Given the description of an element on the screen output the (x, y) to click on. 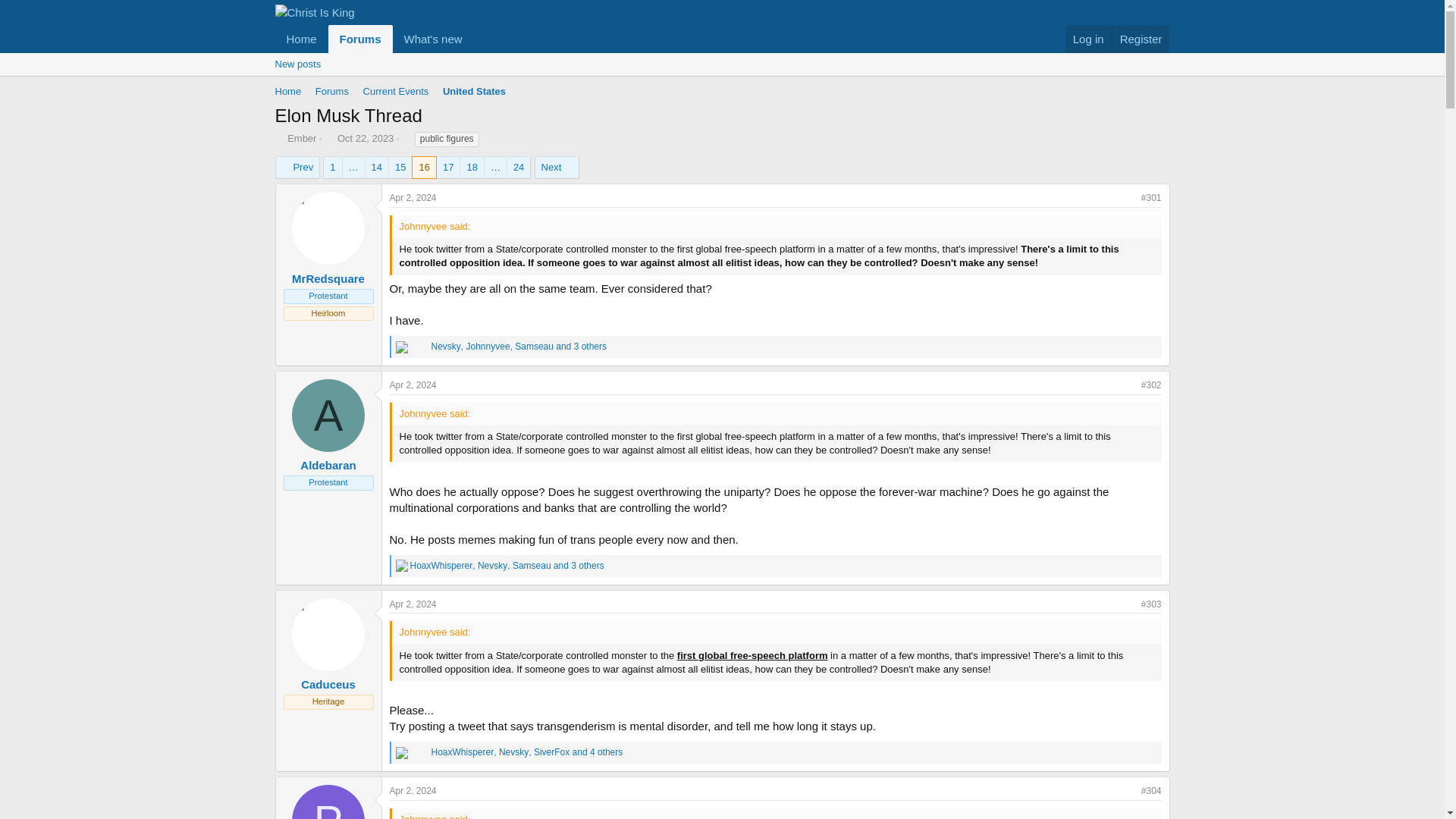
Apr 2, 2024 at 10:38 PM (413, 790)
24 (517, 167)
Oct 22, 2023 (365, 138)
Register (1141, 39)
public figures (446, 139)
Like (401, 565)
Thread starter (279, 138)
Home (287, 91)
Red Pill (422, 752)
Red Pill (422, 346)
